Given the description of an element on the screen output the (x, y) to click on. 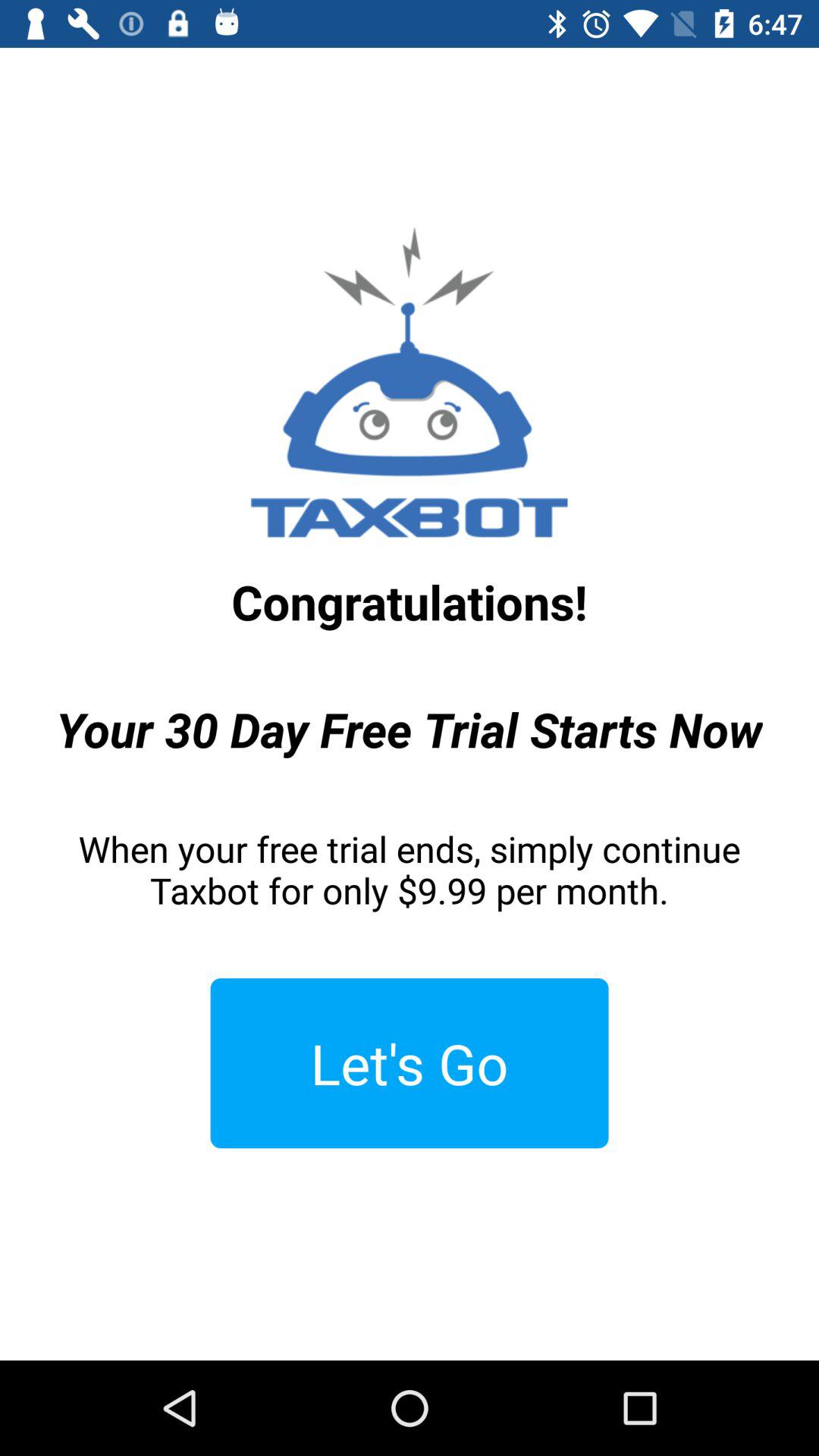
turn off let's go (409, 1063)
